Given the description of an element on the screen output the (x, y) to click on. 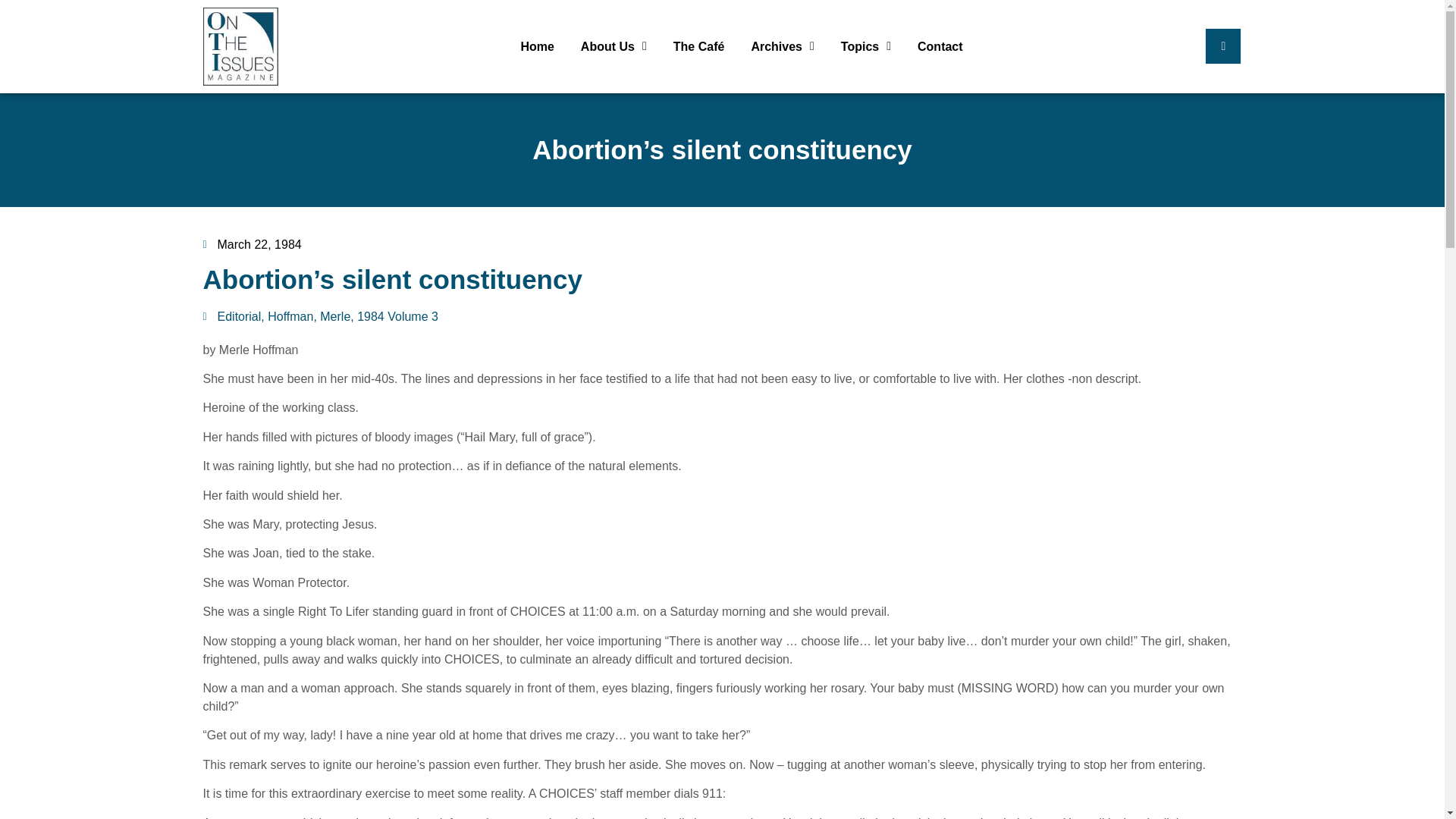
Topics (866, 46)
Search (1224, 45)
Archives (782, 46)
Contact (939, 46)
About Us (613, 46)
